Given the description of an element on the screen output the (x, y) to click on. 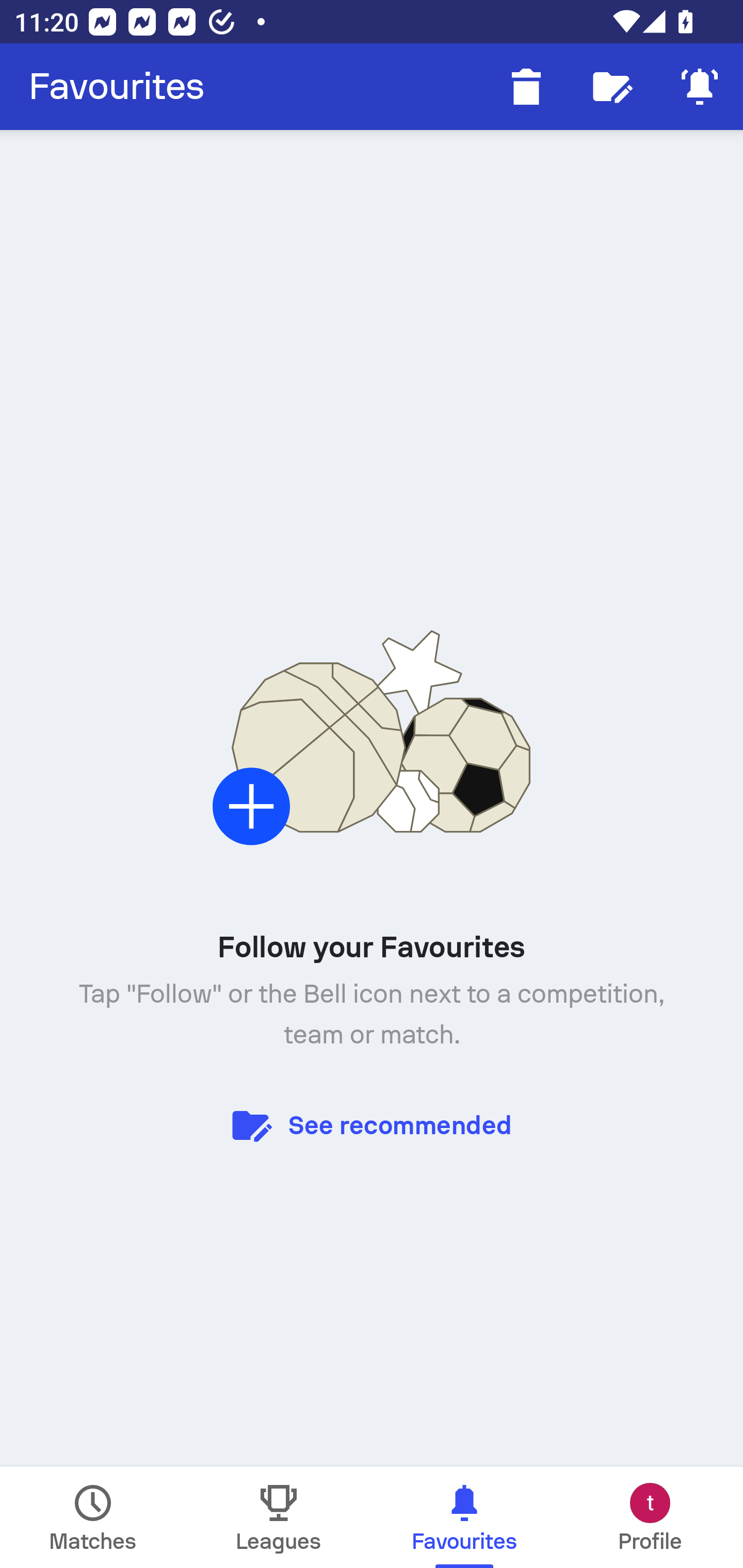
Favourites (116, 86)
Delete finished (525, 86)
Follow editor (612, 86)
Mute Notifications (699, 86)
See recommended (371, 1124)
Matches (92, 1517)
Leagues (278, 1517)
Profile (650, 1517)
